Given the description of an element on the screen output the (x, y) to click on. 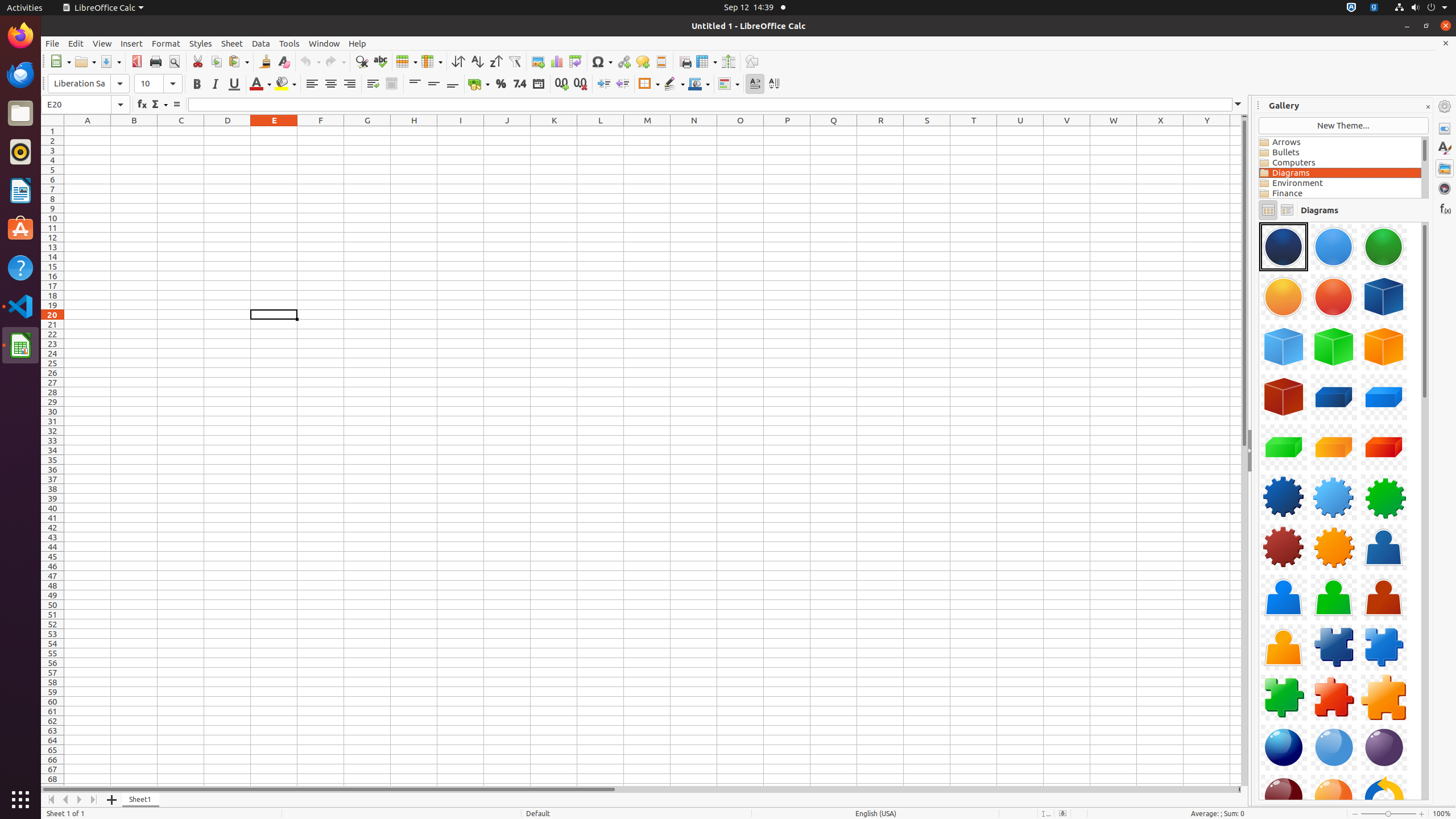
Vertical scroll bar Element type: scroll-bar (1244, 451)
Headers and Footers Element type: push-button (660, 61)
Component-Cube05-DarkRed Element type: list-item (1283, 396)
Row Element type: push-button (406, 61)
Component-Person04-DarkRed Element type: list-item (1383, 596)
